Given the description of an element on the screen output the (x, y) to click on. 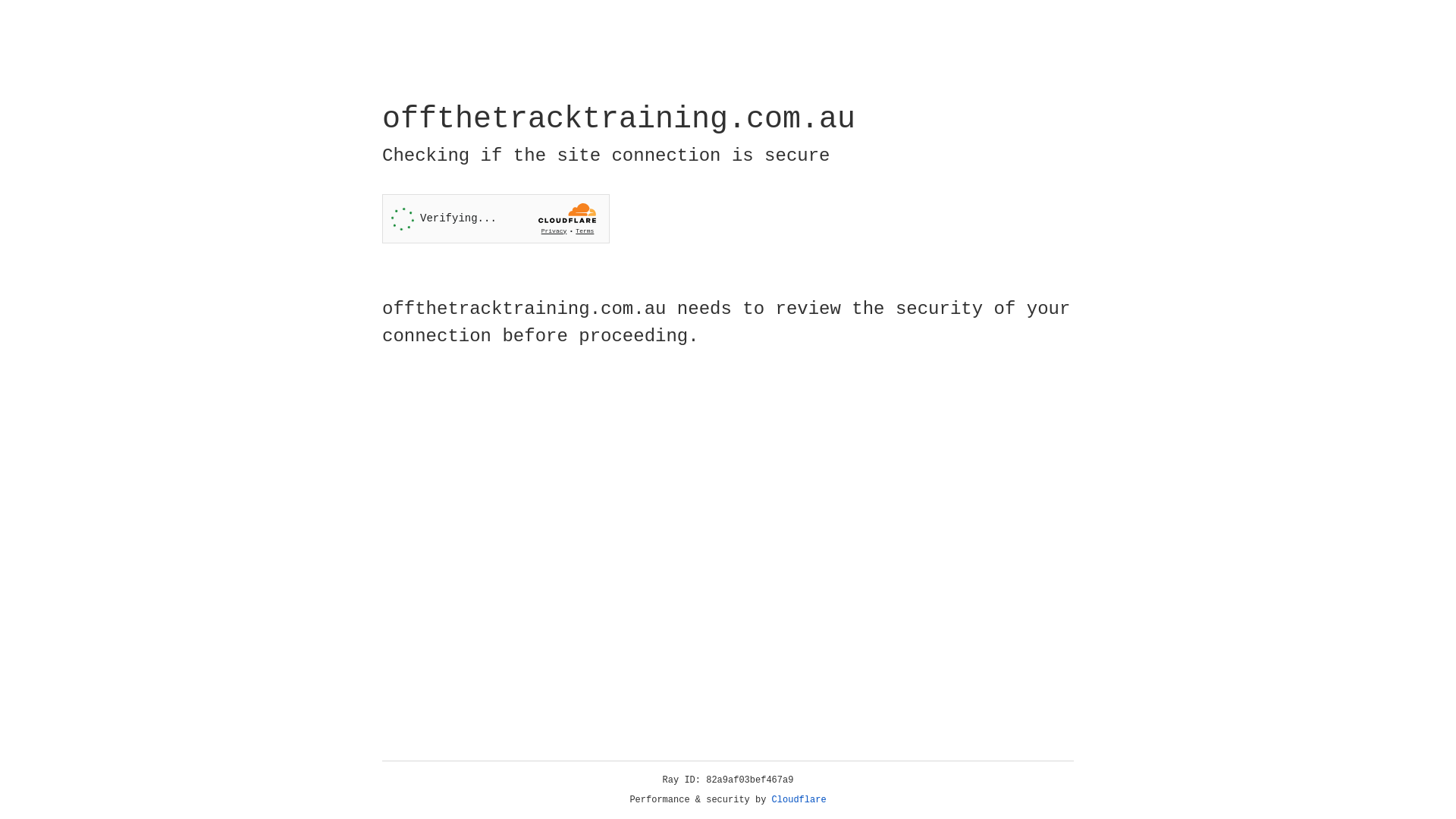
Cloudflare Element type: text (798, 799)
Widget containing a Cloudflare security challenge Element type: hover (495, 218)
